Given the description of an element on the screen output the (x, y) to click on. 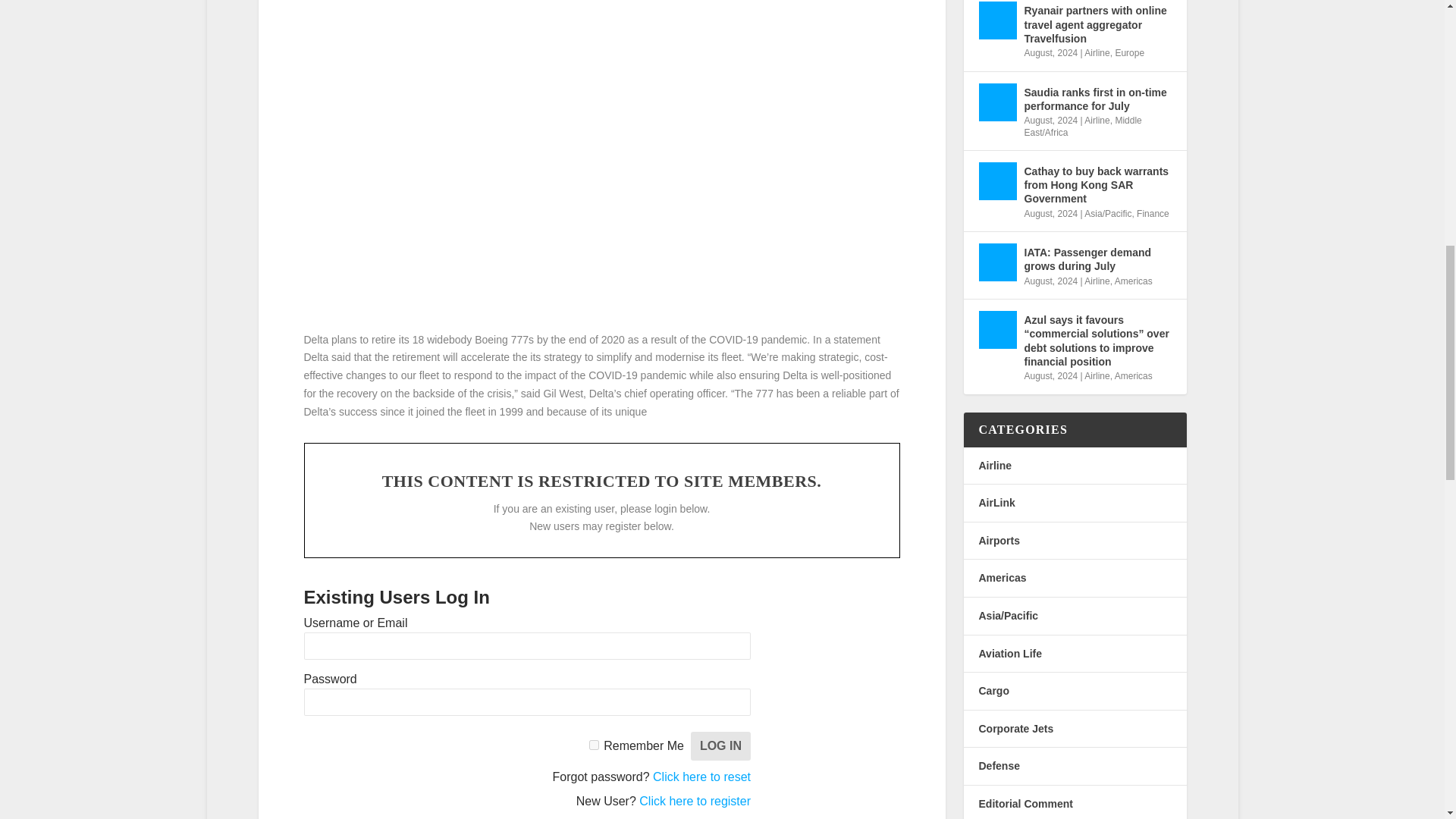
forever (593, 745)
IATA: Passenger demand grows during July (997, 262)
Cathay to buy back warrants from Hong Kong SAR Government (997, 180)
Log In (720, 746)
Saudia ranks first in on-time performance for July (997, 102)
